Given the description of an element on the screen output the (x, y) to click on. 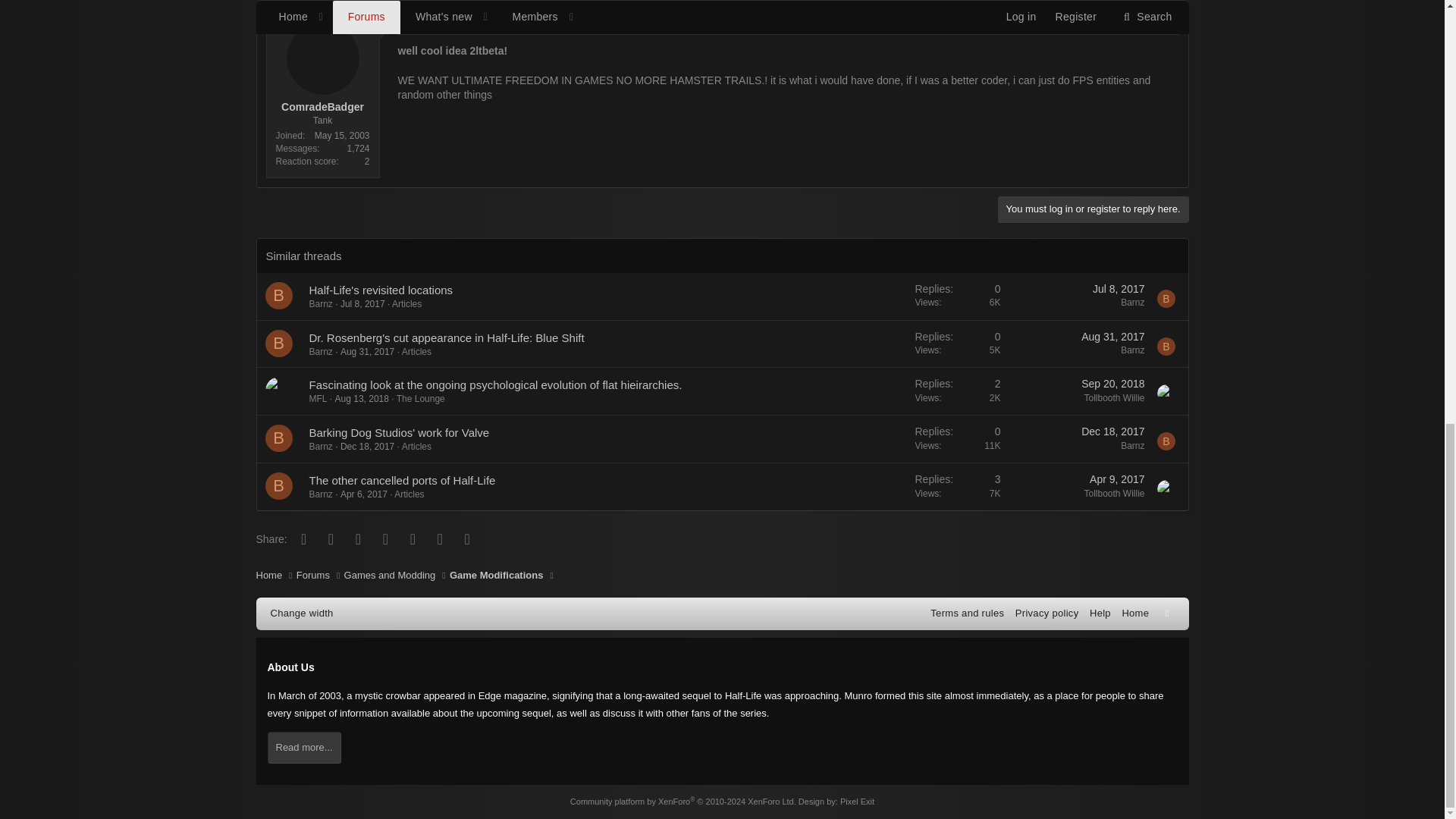
Jul 8, 2017 at 12:29 AM (1118, 288)
Jul 8, 2017 at 12:29 AM (362, 303)
First message reaction score: 1 (958, 296)
May 17, 2003 at 9:14 PM (424, 18)
First message reaction score: 1 (958, 343)
Aug 31, 2017 at 4:27 AM (367, 351)
Aug 31, 2017 at 4:27 AM (1112, 336)
